Given the description of an element on the screen output the (x, y) to click on. 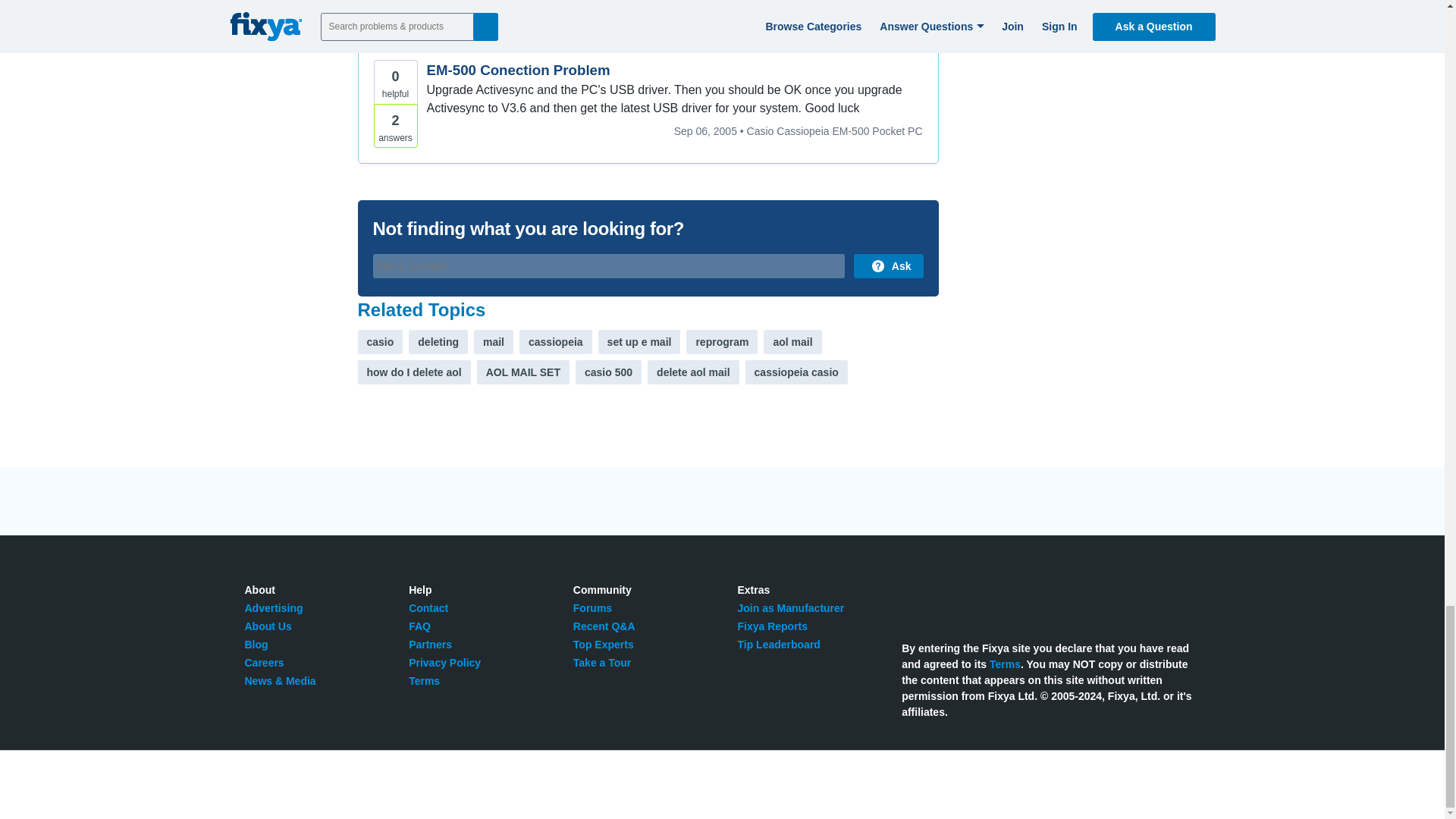
Follow Fixya on Twitter (910, 597)
Ask (888, 265)
